Given the description of an element on the screen output the (x, y) to click on. 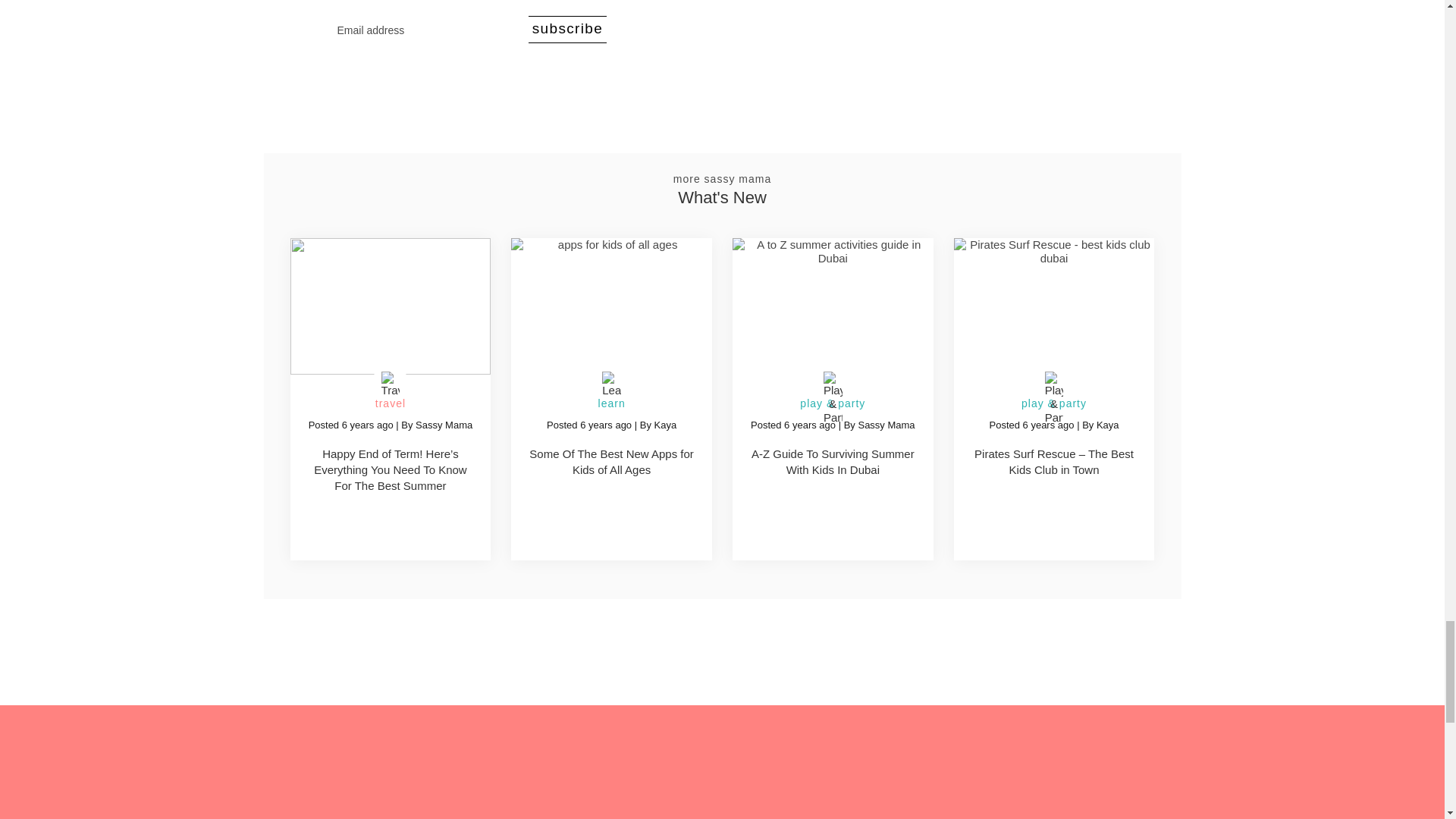
Subscribe (567, 29)
